Given the description of an element on the screen output the (x, y) to click on. 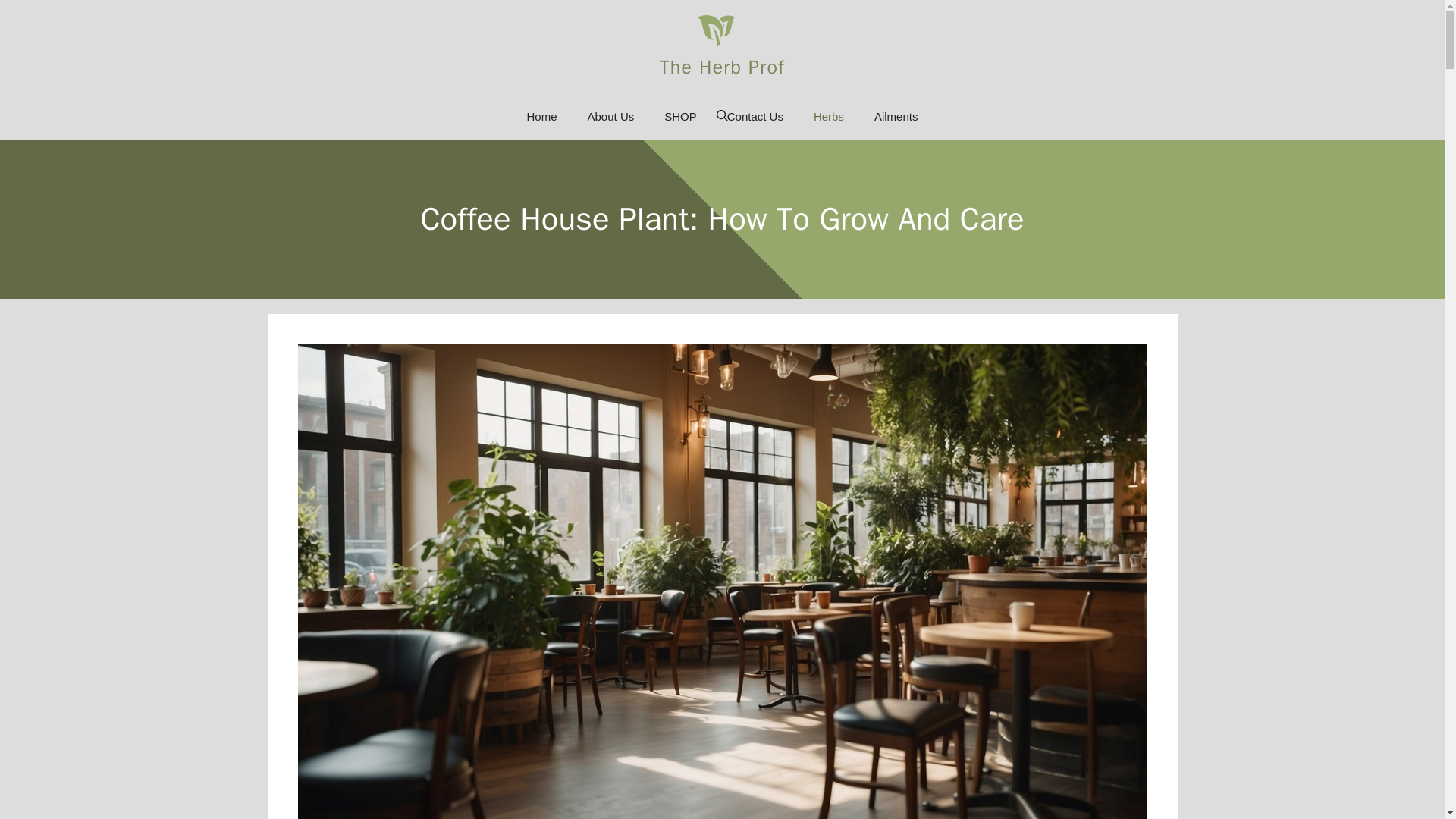
Contact Us (754, 116)
Home (541, 116)
Herbs (828, 116)
Ailments (896, 116)
About Us (610, 116)
The Herb Prof (721, 65)
SHOP (680, 116)
